Given the description of an element on the screen output the (x, y) to click on. 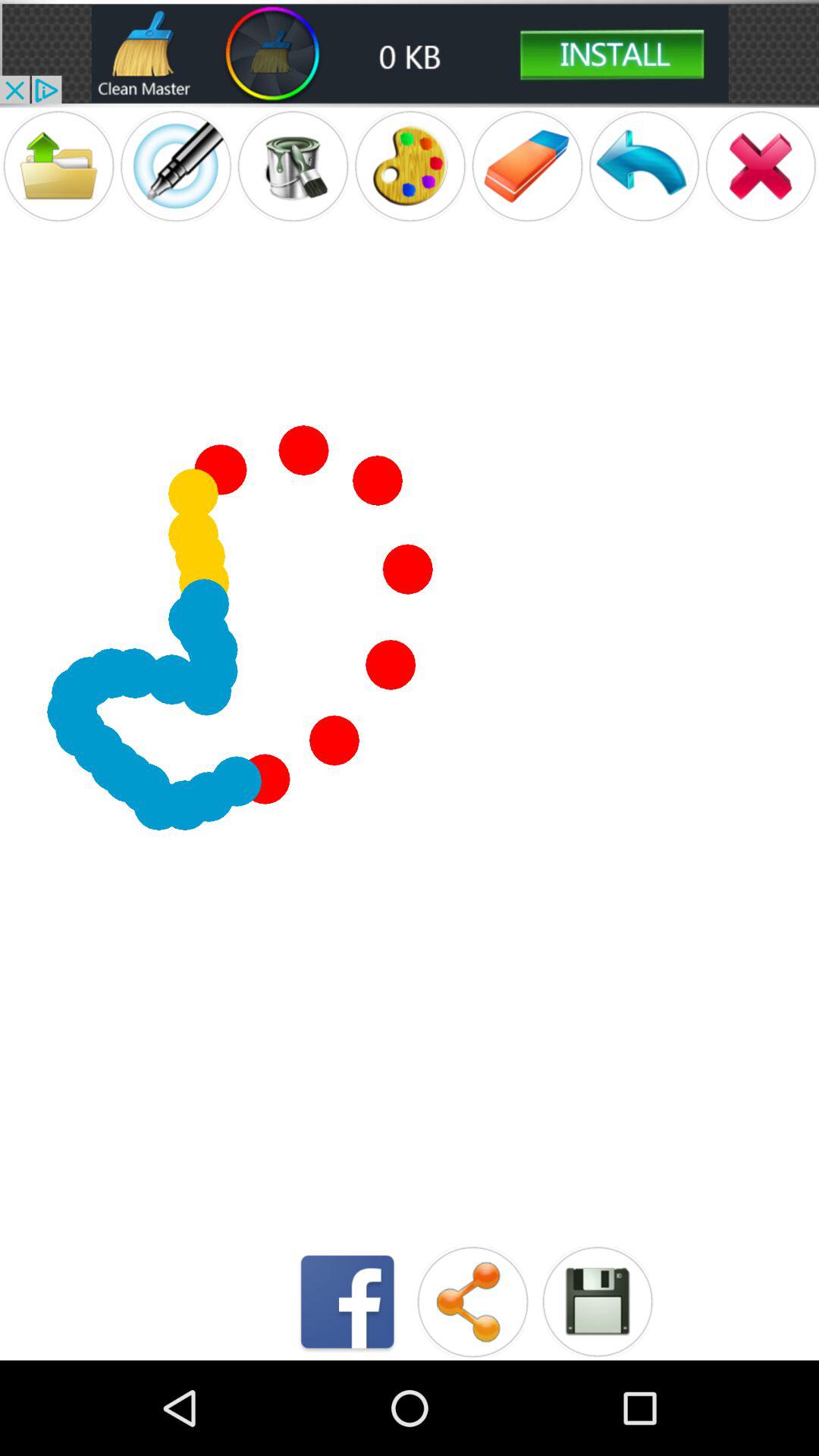
close (760, 165)
